Given the description of an element on the screen output the (x, y) to click on. 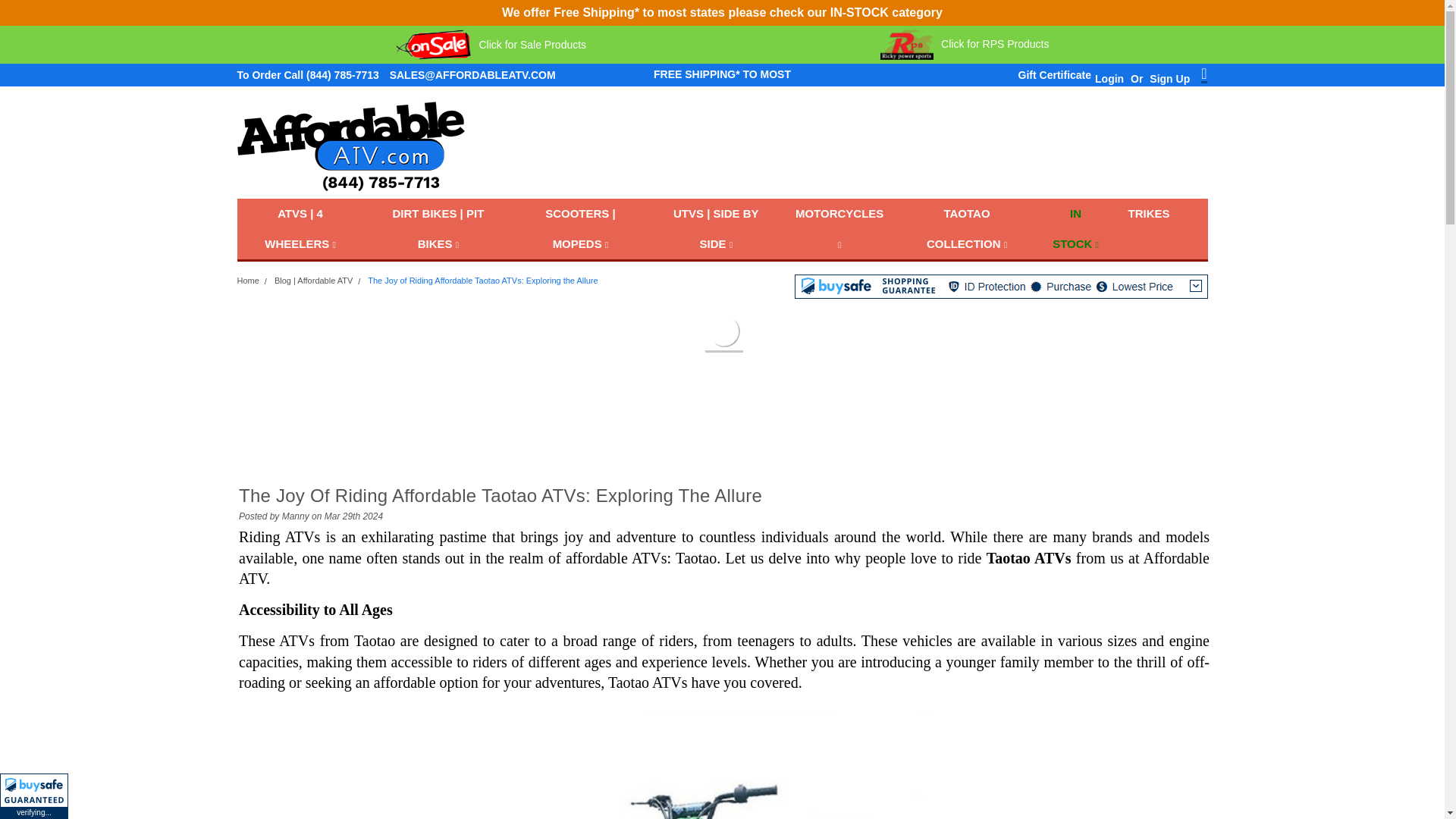
Click Our Sale Products (491, 44)
Click for Sale Products (491, 44)
Login (1109, 78)
Unused iFrame 1 (34, 796)
Click for RPS Products (964, 44)
Sign Up (1167, 78)
Gift Certificate (1050, 74)
Affordableatv.com (349, 145)
rps (964, 44)
